Given the description of an element on the screen output the (x, y) to click on. 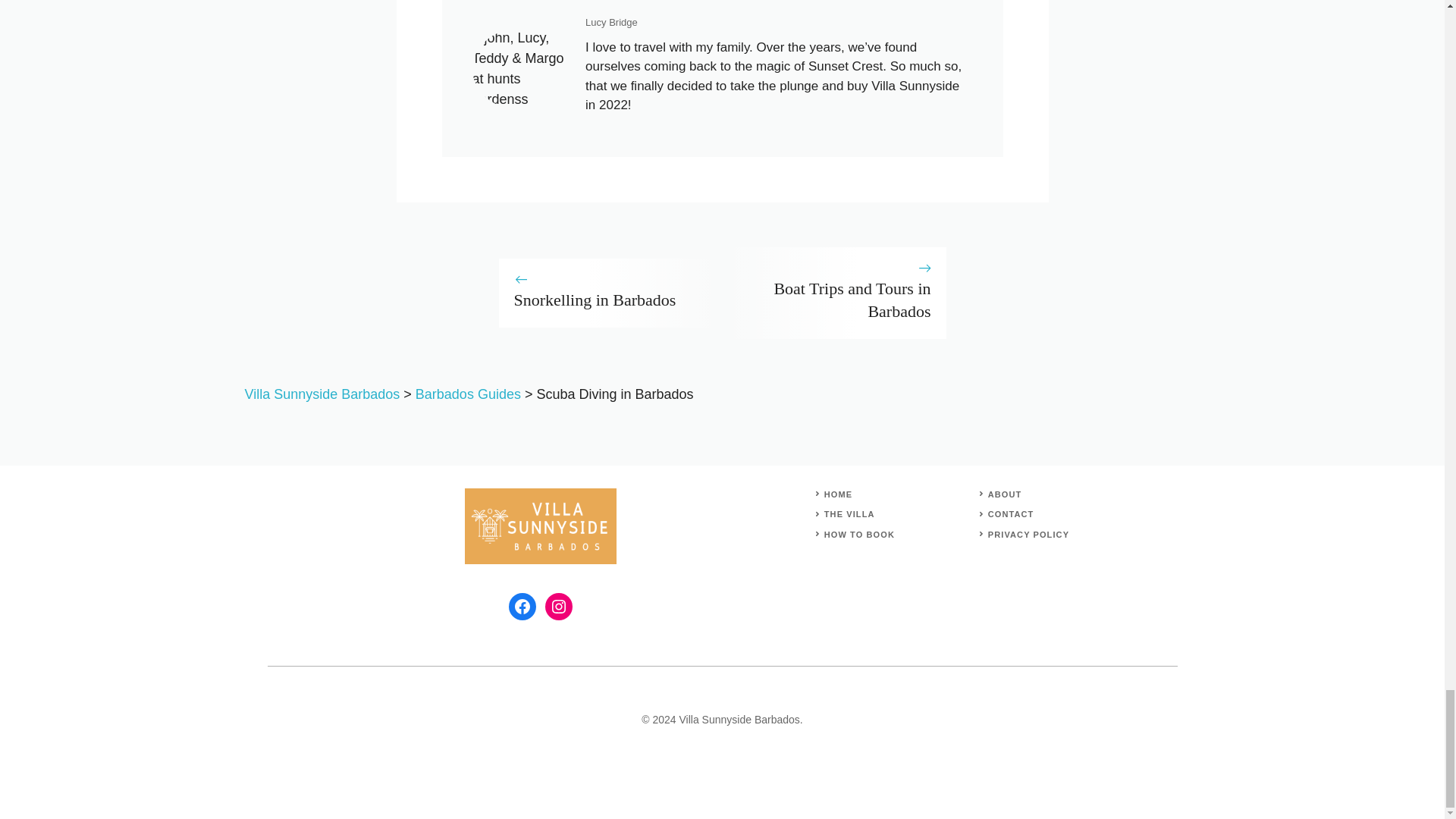
Boat Trips and Tours in Barbados (851, 300)
Snorkelling in Barbados (595, 299)
John-Lucy-Teddy-and-margo-1 (520, 68)
Barbados Guides (467, 394)
Villa Sunnyside Barbados (321, 394)
Go to the Barbados Guides Category archives. (467, 394)
Villa Sunnyside Barbados logo (539, 526)
Go to Villa Sunnyside Barbados. (321, 394)
